Given the description of an element on the screen output the (x, y) to click on. 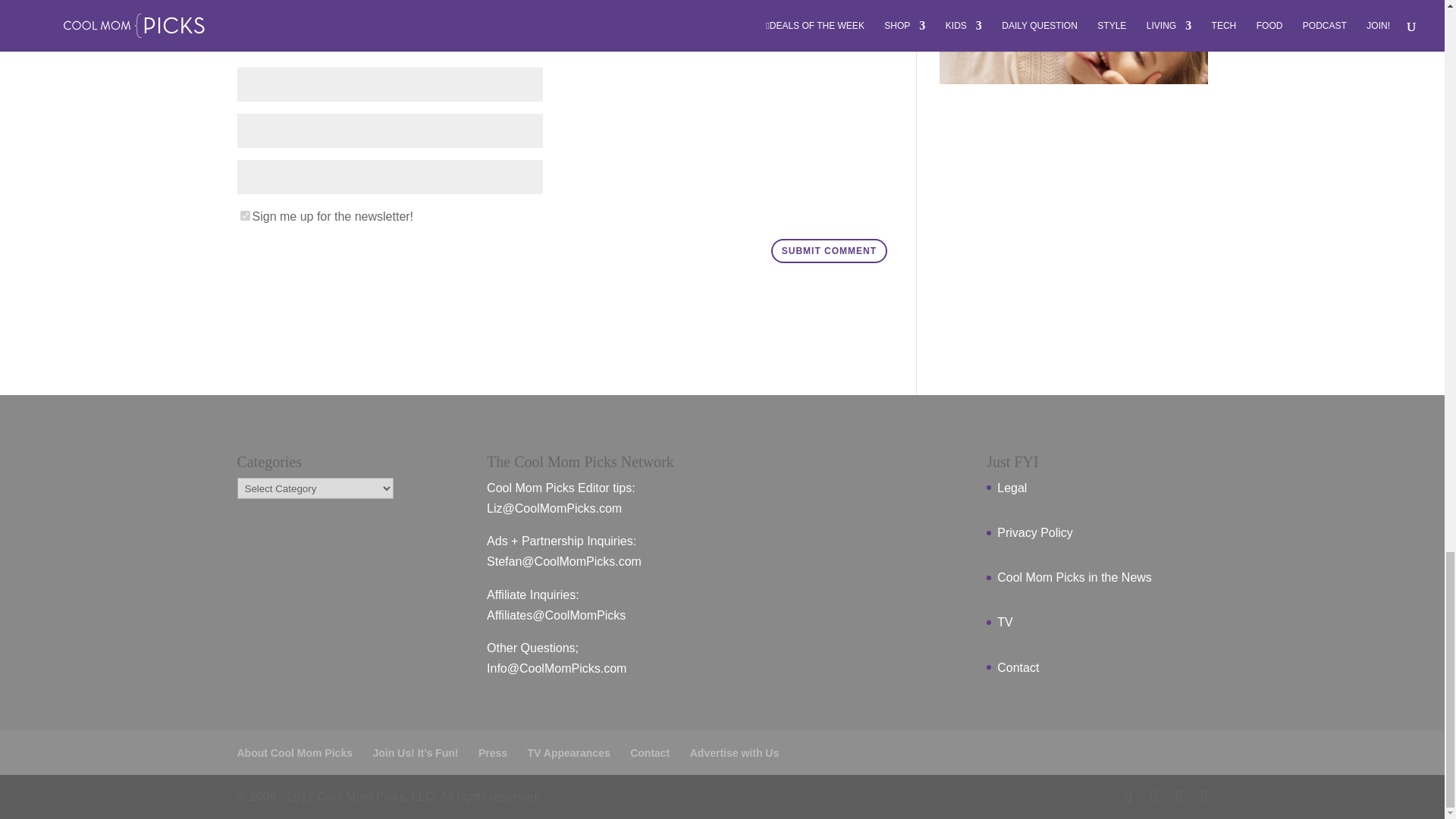
Submit Comment (828, 250)
1 (244, 215)
About Cool Mom Picks (293, 752)
